Given the description of an element on the screen output the (x, y) to click on. 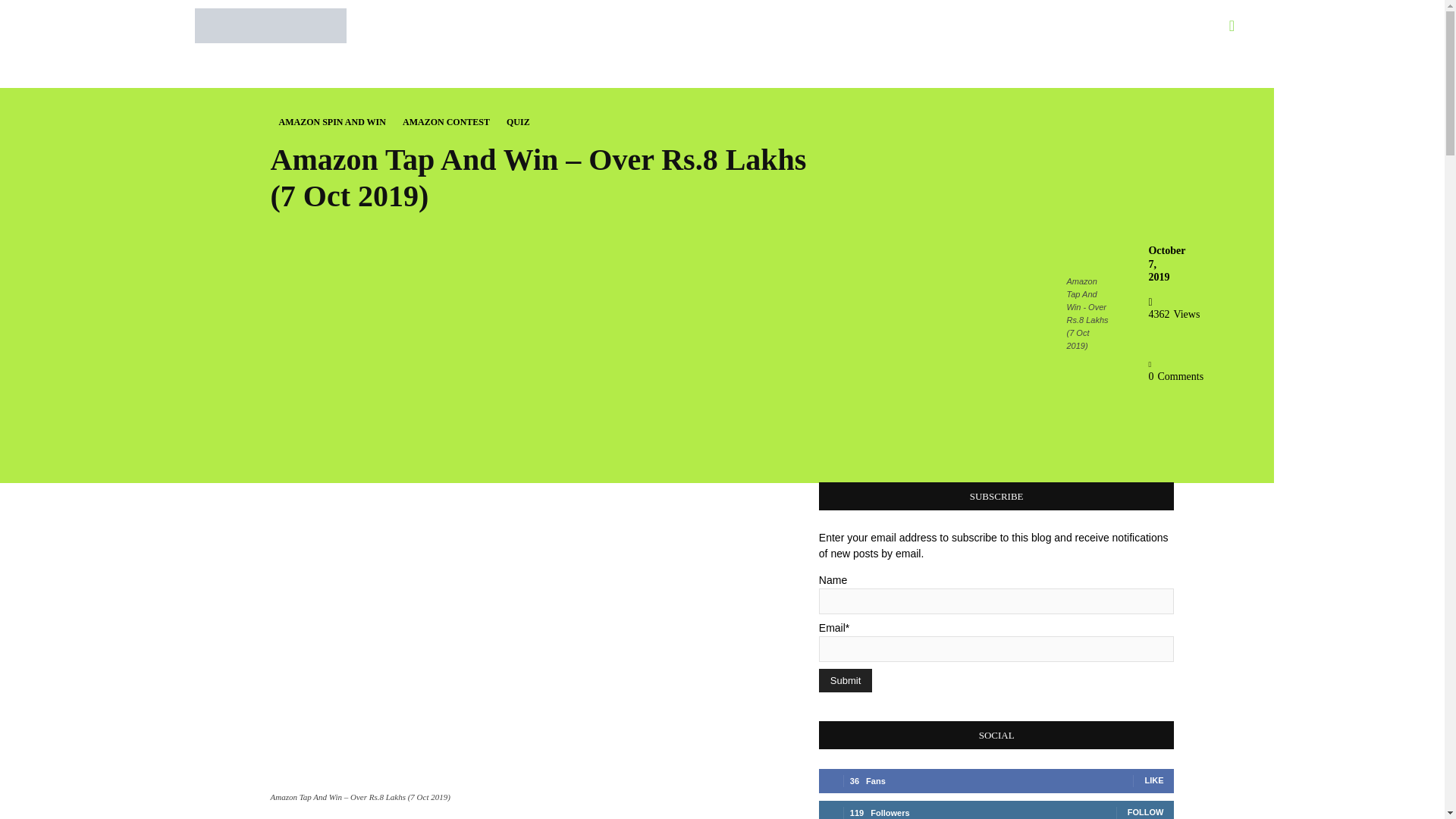
Submit (845, 680)
AMAZON CONTEST (446, 122)
0Comments (1176, 369)
AMAZON SPIN AND WIN (332, 122)
QUIZ (518, 122)
